Given the description of an element on the screen output the (x, y) to click on. 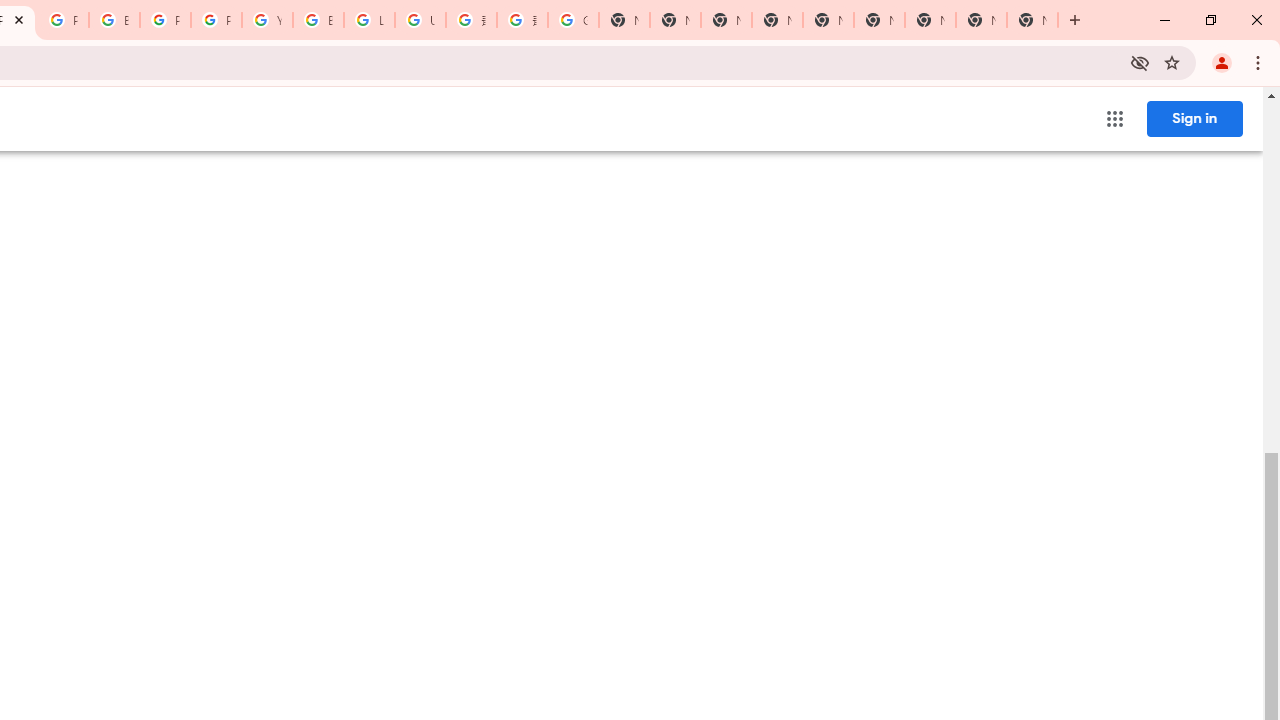
Privacy Help Center - Policies Help (63, 20)
New Tab (930, 20)
Third-party cookies blocked (1139, 62)
New Tab (776, 20)
Browse Chrome as a guest - Computer - Google Chrome Help (318, 20)
Google Images (573, 20)
New Tab (1032, 20)
YouTube (267, 20)
